Given the description of an element on the screen output the (x, y) to click on. 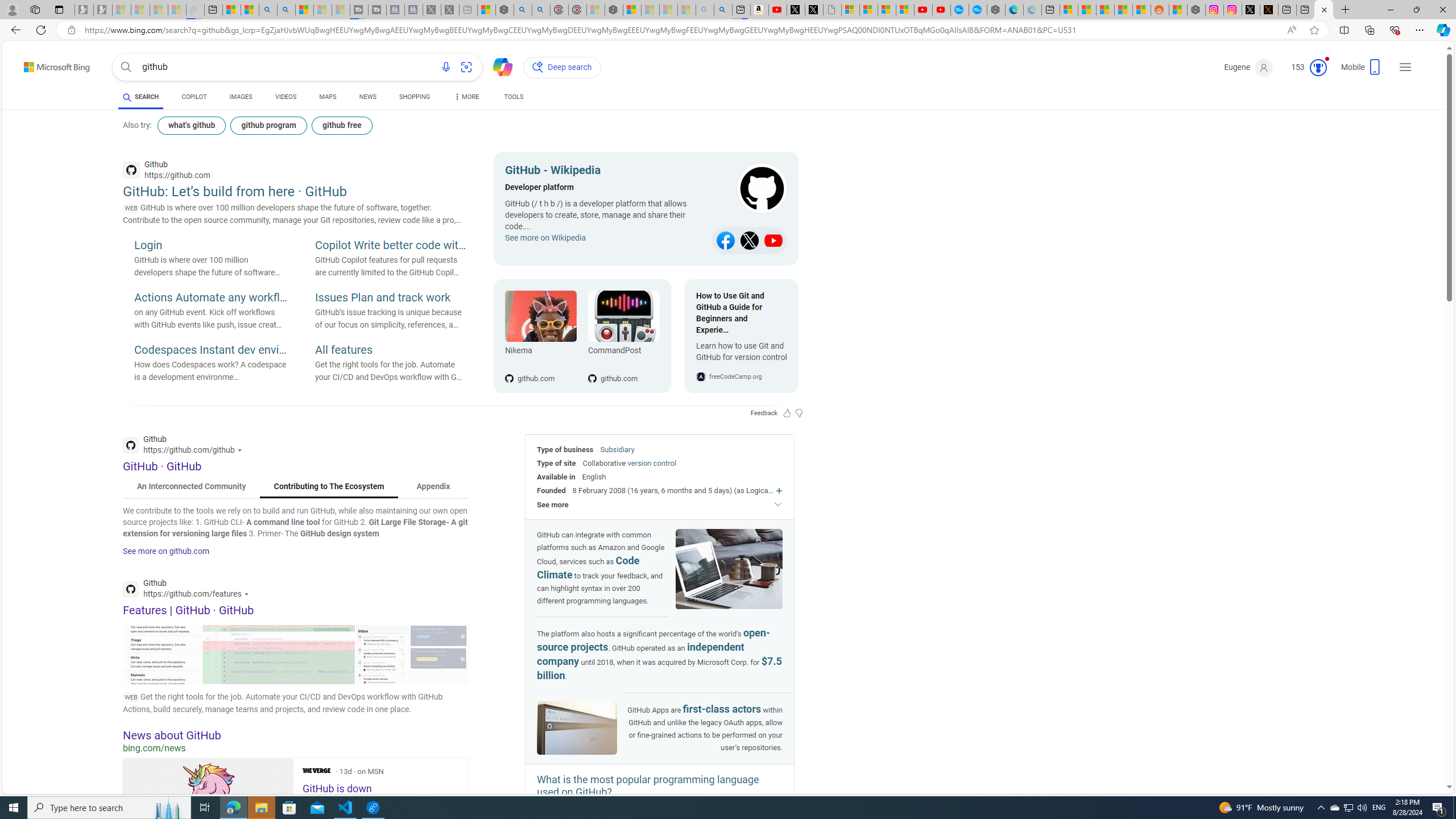
Back to Bing search (50, 64)
SEARCH (140, 96)
Search using an image (465, 66)
Login (210, 245)
Settings and quick links (1404, 67)
Feedback Like (786, 412)
github free (341, 125)
Skip to content (36, 63)
